Given the description of an element on the screen output the (x, y) to click on. 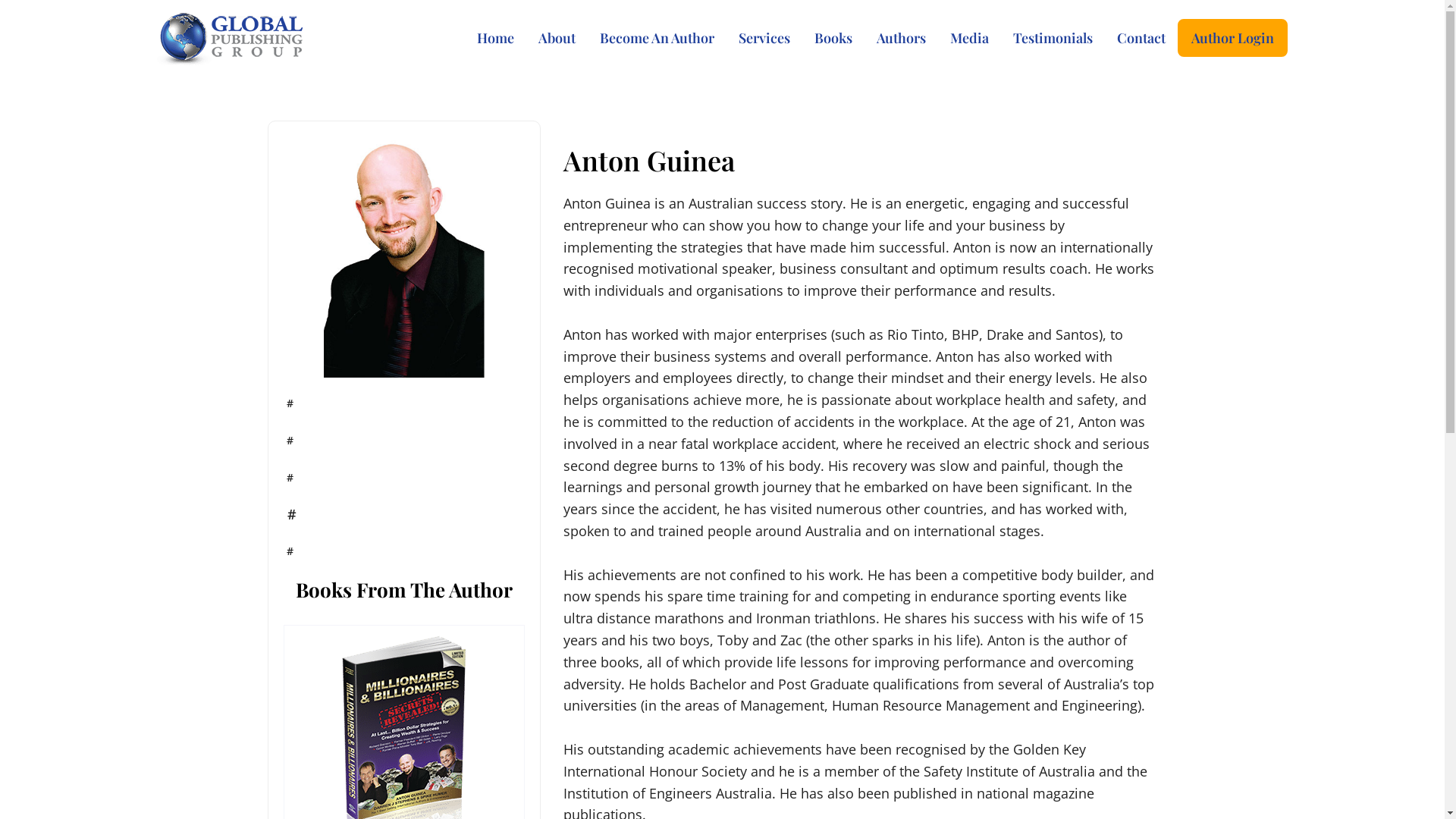
Home Element type: text (495, 37)
About Element type: text (556, 37)
Become An Author Element type: text (656, 37)
Author Login Element type: text (1232, 36)
Contact Element type: text (1140, 37)
Anton guinea 1 Element type: hover (403, 256)
Media Element type: text (969, 37)
Testimonials Element type: text (1052, 37)
Authors Element type: text (901, 37)
Services Element type: text (764, 37)
Books Element type: text (833, 37)
